Given the description of an element on the screen output the (x, y) to click on. 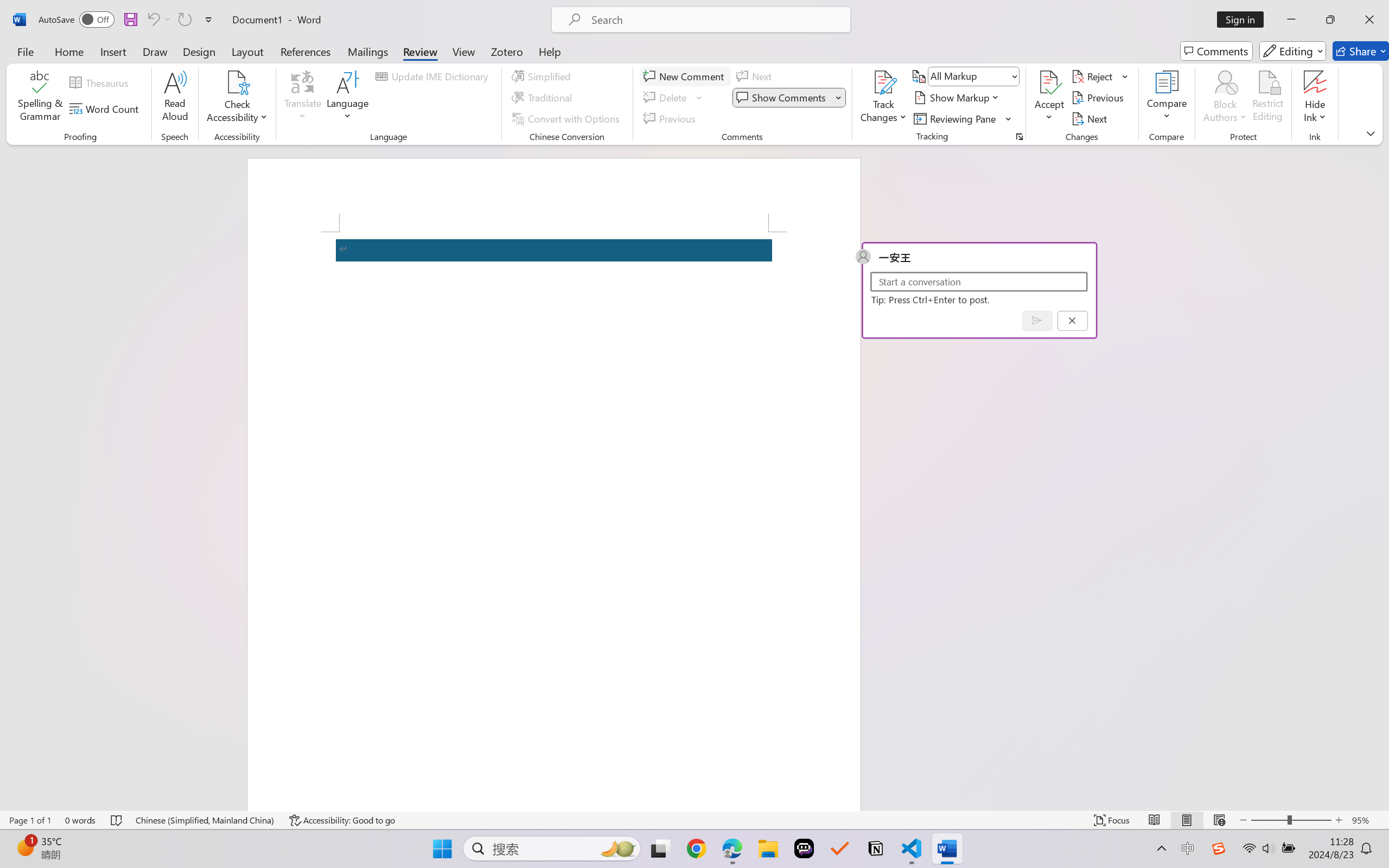
Undo Apply Quick Style Set (158, 19)
Block Authors (1224, 97)
Hide Ink (1315, 97)
Reviewing Pane (962, 118)
Check Accessibility (237, 97)
Next (1090, 118)
